Given the description of an element on the screen output the (x, y) to click on. 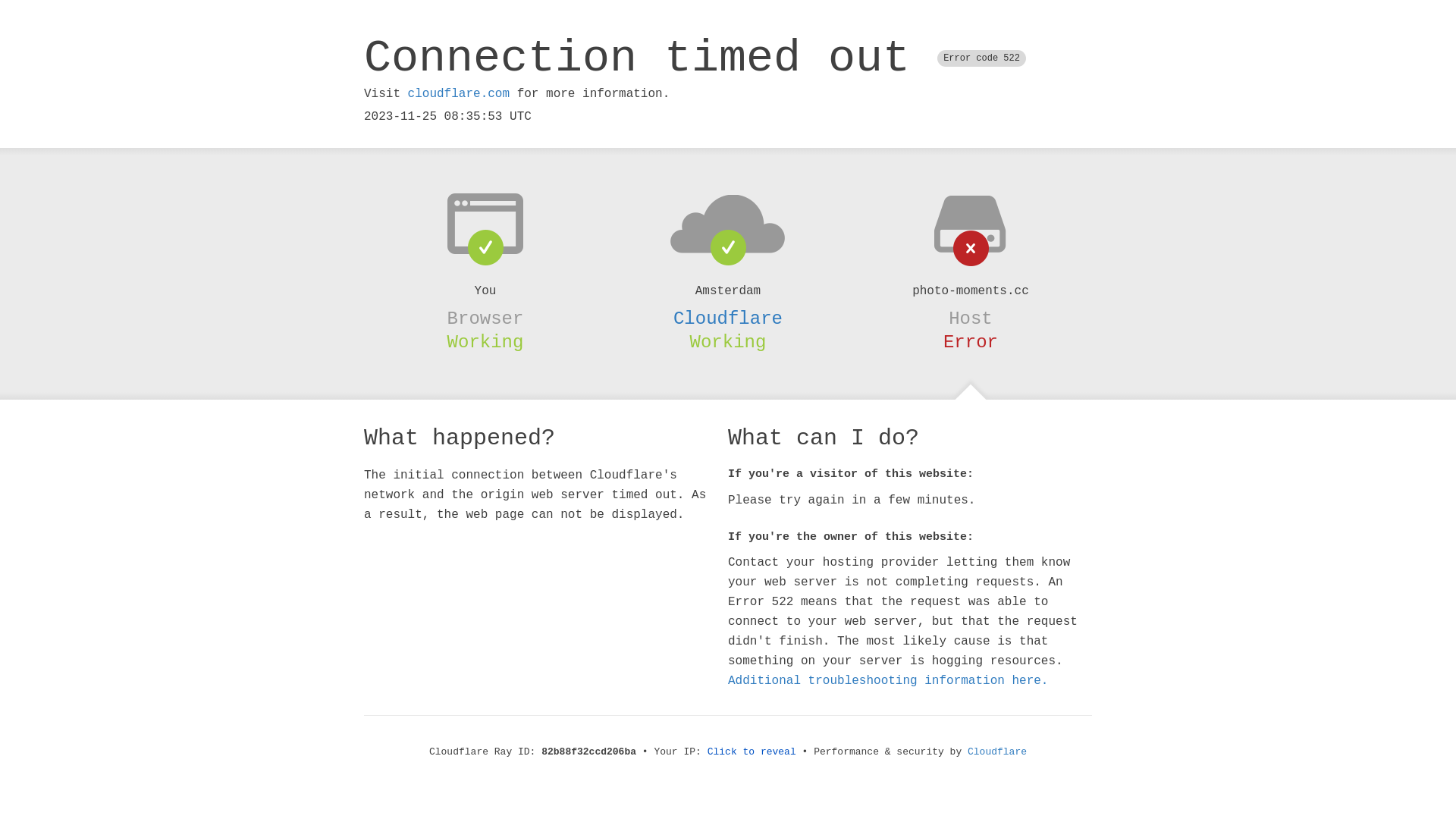
Cloudflare Element type: text (727, 318)
Additional troubleshooting information here. Element type: text (888, 680)
Cloudflare Element type: text (996, 751)
Click to reveal Element type: text (751, 751)
cloudflare.com Element type: text (458, 93)
